Given the description of an element on the screen output the (x, y) to click on. 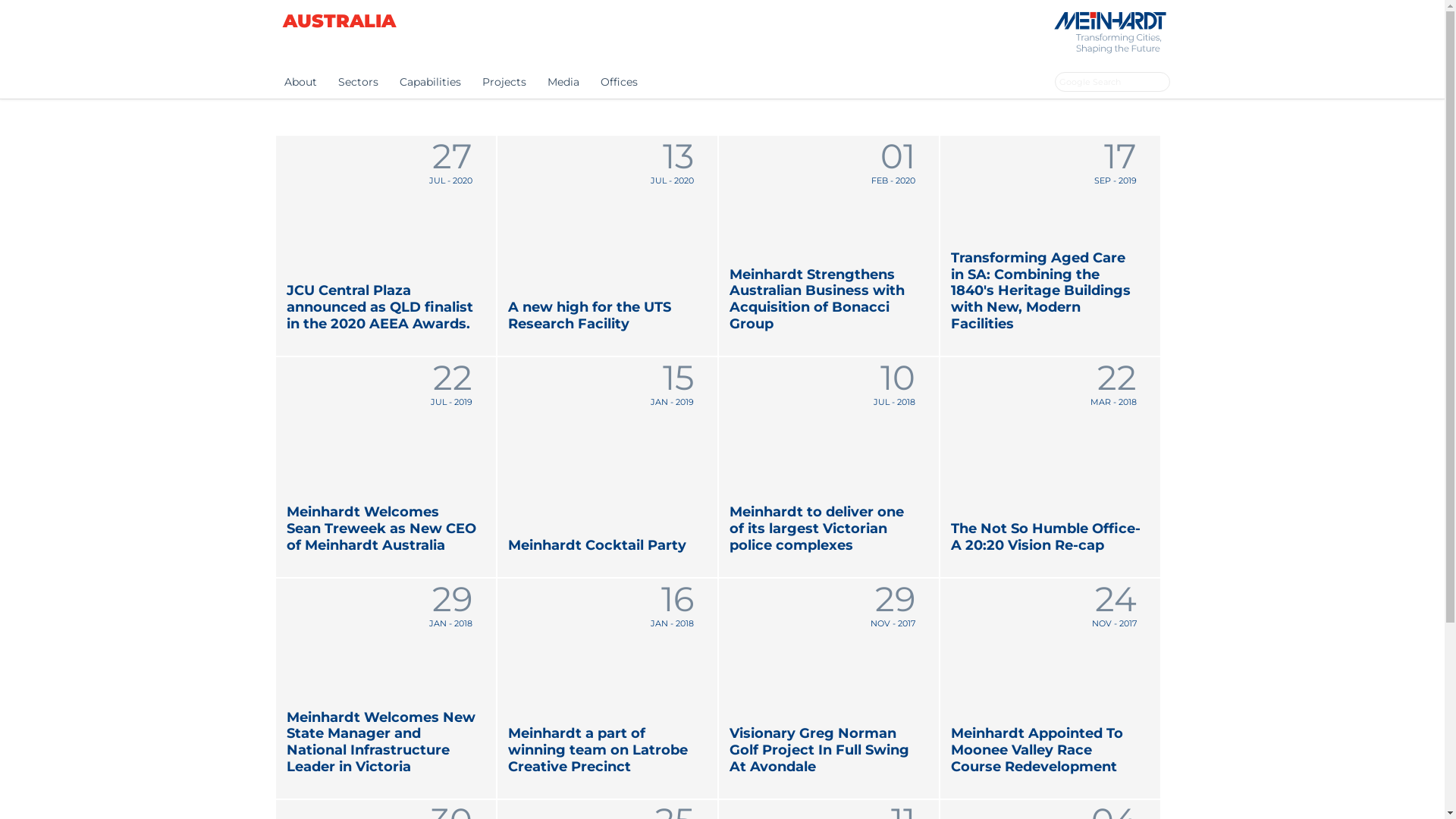
Projects Element type: text (504, 81)
About Element type: text (299, 81)
Offices Element type: text (618, 81)
AUSTRALIA Element type: text (338, 20)
Sectors Element type: text (358, 81)
Media Element type: text (563, 81)
Capabilities Element type: text (429, 81)
